Given the description of an element on the screen output the (x, y) to click on. 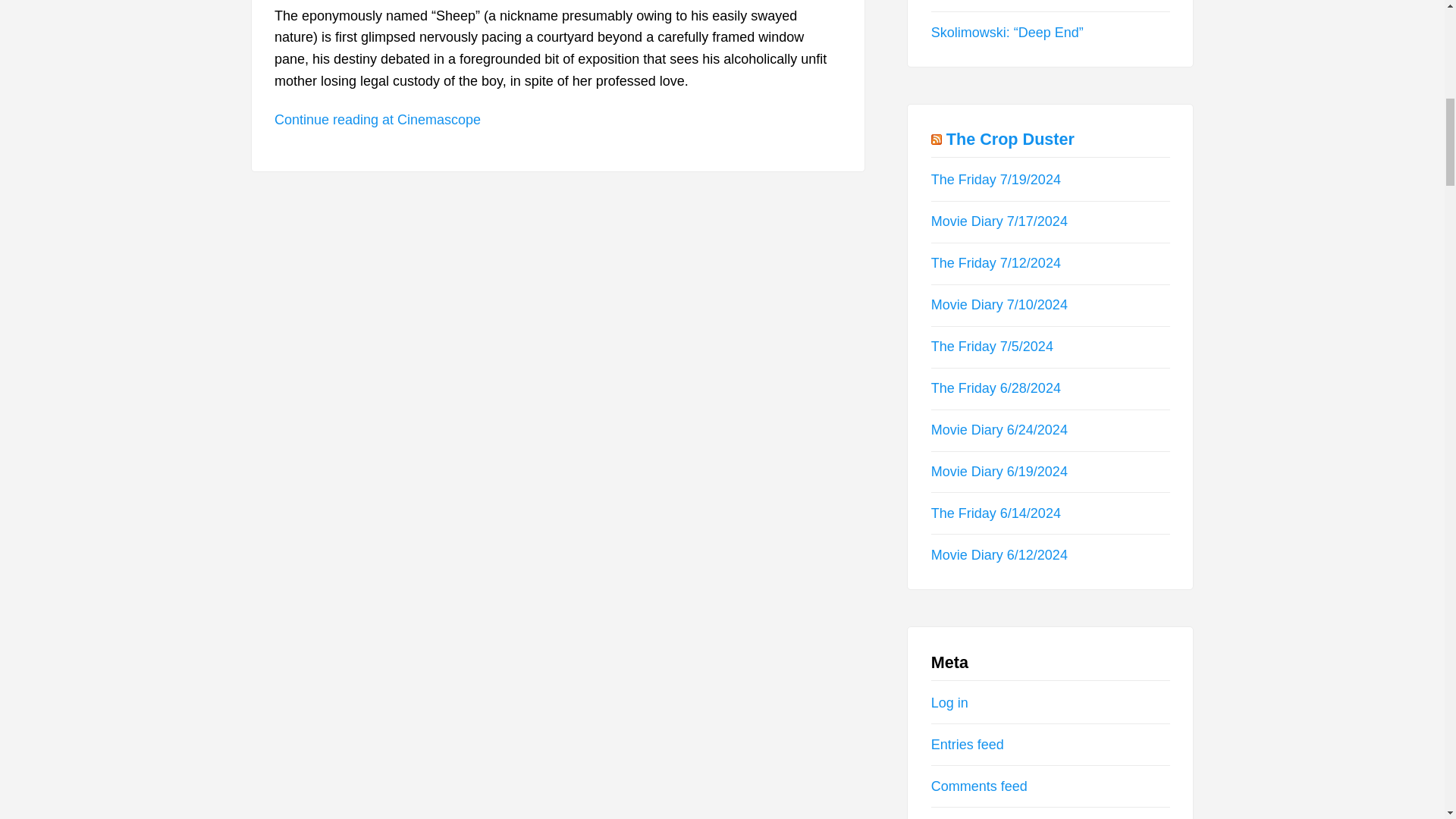
Continue reading at Cinemascope (377, 119)
The Crop Duster (1010, 138)
